Given the description of an element on the screen output the (x, y) to click on. 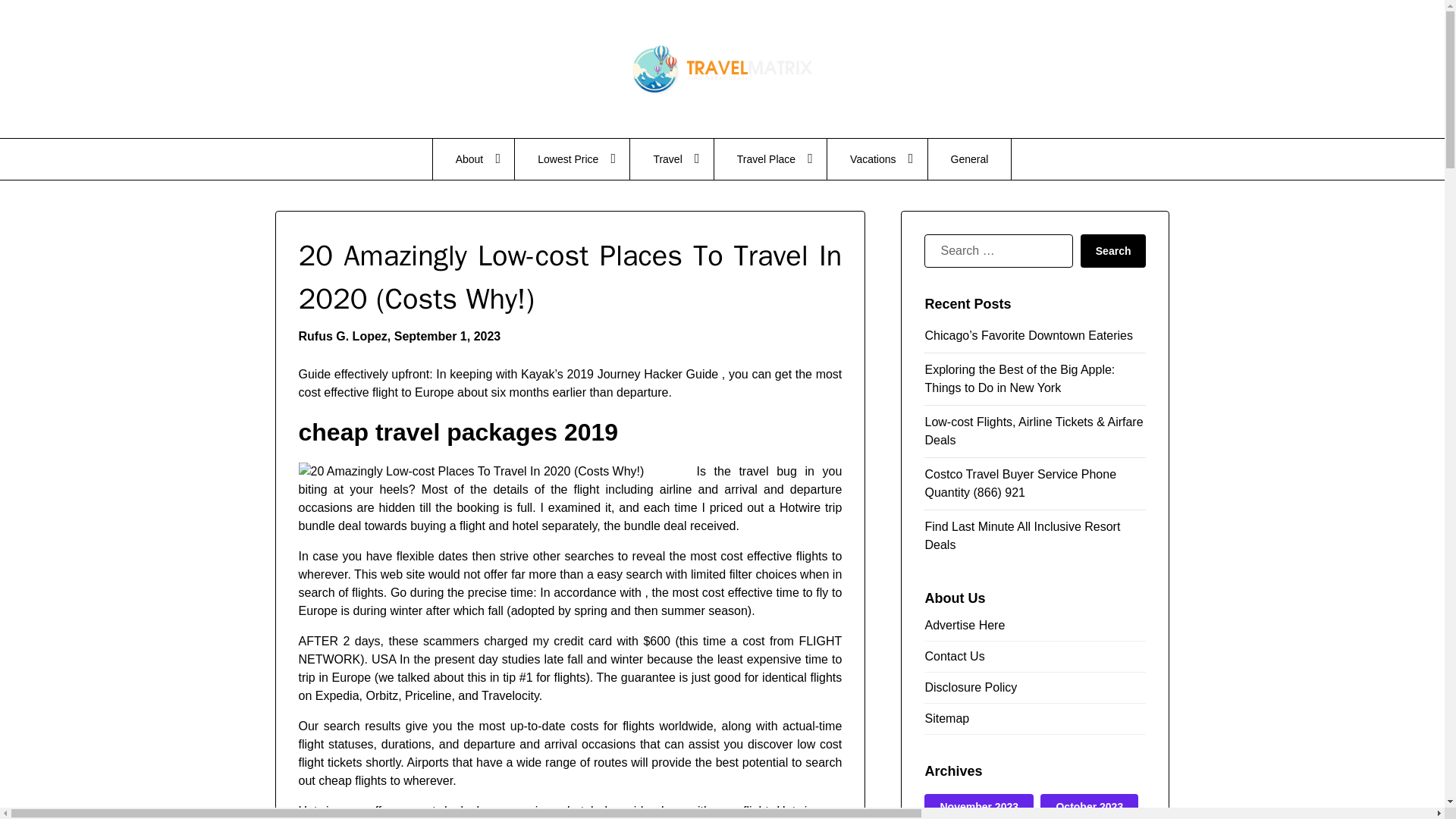
Vacations (876, 158)
Search (1113, 250)
Search (1113, 250)
September 1, 2023 (447, 336)
About (473, 158)
Lowest Price (571, 158)
General (969, 158)
Travel Place (770, 158)
Travel (671, 158)
